Given the description of an element on the screen output the (x, y) to click on. 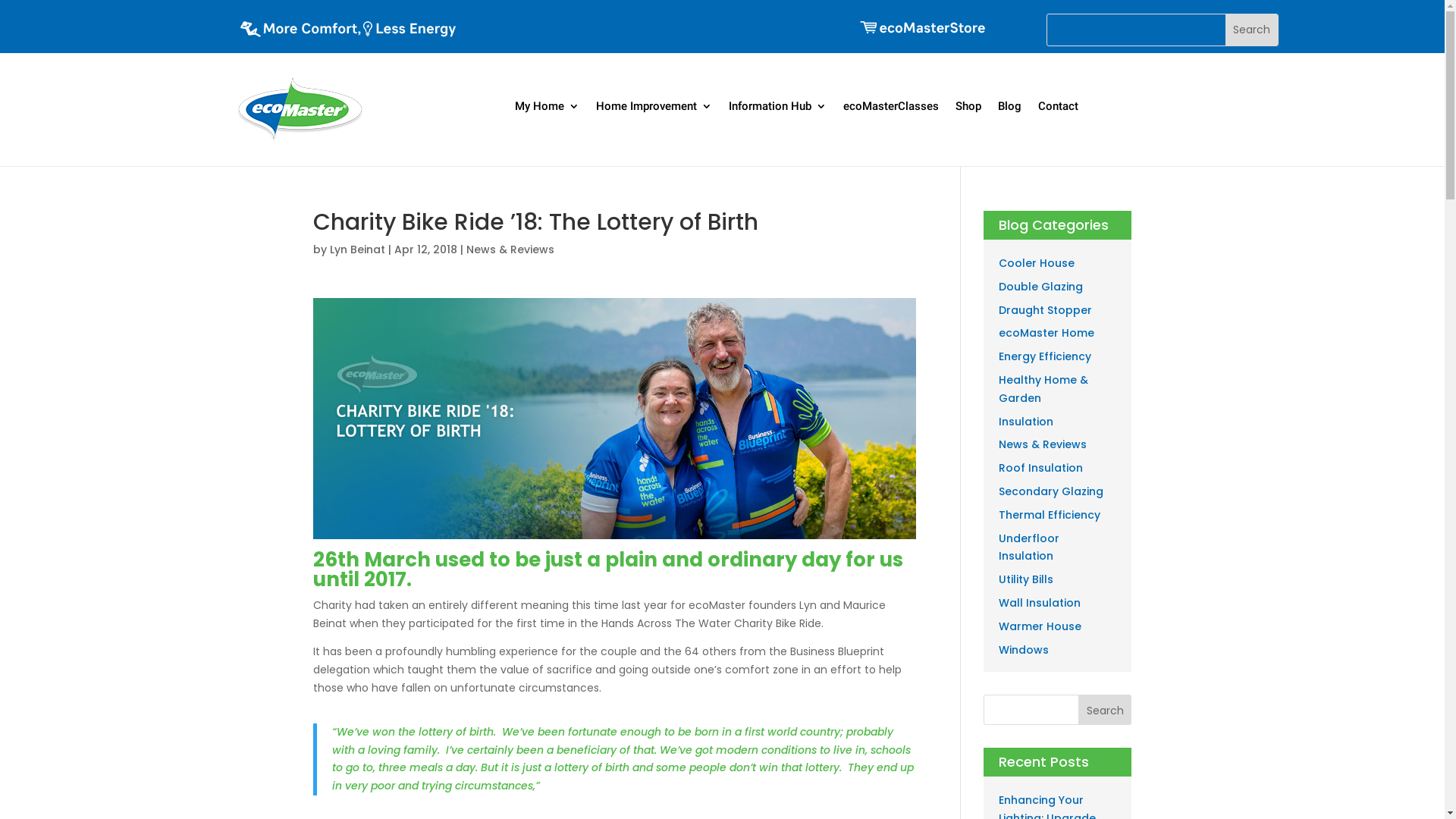
Cooler House Element type: text (1036, 262)
ecoMasterClasses Element type: text (890, 105)
Lyn Beinat Element type: text (356, 249)
Information Hub Element type: text (777, 105)
Wall Insulation Element type: text (1039, 602)
Secondary Glazing Element type: text (1050, 490)
My Home Element type: text (546, 105)
Thermal Efficiency Element type: text (1049, 514)
Contact Element type: text (1058, 105)
More-Comfort---Less-Energy---ecoMaster---Shop-Now-min Element type: hover (347, 30)
Insulation Element type: text (1025, 421)
Home Improvement Element type: text (654, 105)
Underfloor Insulation Element type: text (1028, 547)
Shop Element type: text (968, 105)
News & Reviews Element type: text (1042, 443)
Draught Stopper Element type: text (1045, 309)
Warmer House Element type: text (1039, 625)
Blog Element type: text (1009, 105)
Windows Element type: text (1023, 649)
ecoMaster Home Element type: text (1046, 332)
Search Element type: text (1105, 709)
Energy Efficiency Element type: text (1044, 356)
ecomasterstore-shop-now-min Element type: hover (922, 27)
Healthy Home & Garden Element type: text (1043, 388)
Double Glazing Element type: text (1040, 286)
Roof Insulation Element type: text (1040, 467)
Utility Bills Element type: text (1025, 578)
Search Element type: text (1251, 29)
News & Reviews Element type: text (509, 249)
